Given the description of an element on the screen output the (x, y) to click on. 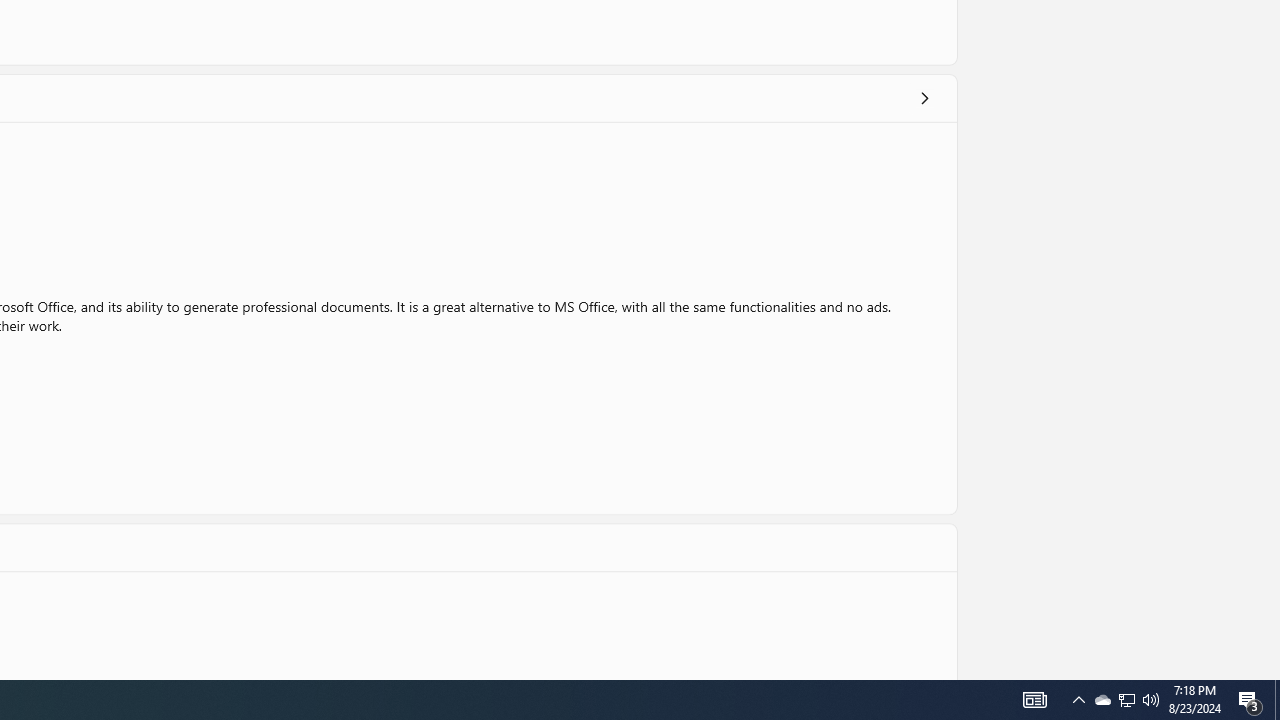
Show all ratings and reviews (924, 97)
